Given the description of an element on the screen output the (x, y) to click on. 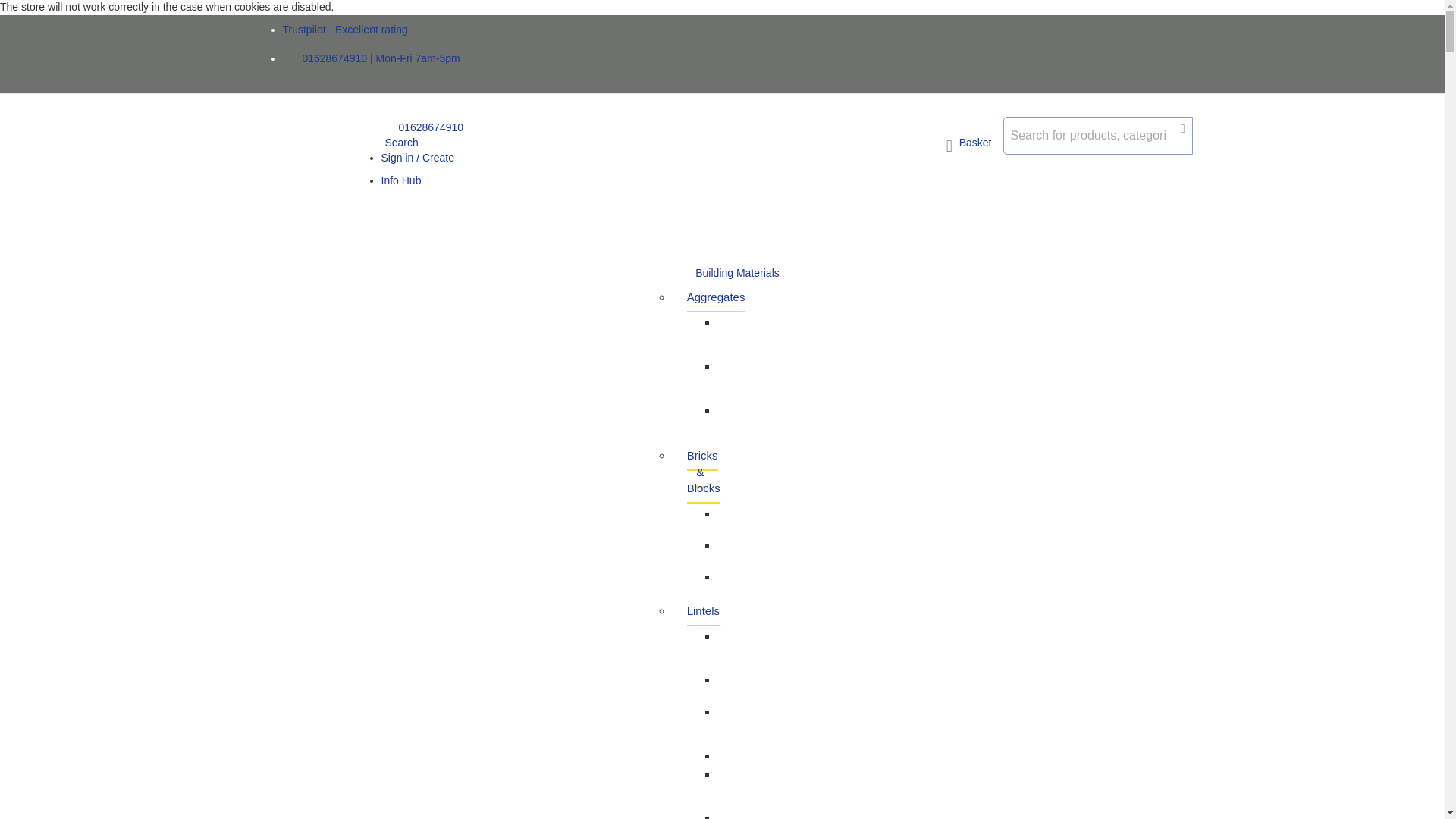
Aggregates (716, 297)
Concrete Blocks (739, 519)
Basket (968, 146)
Building Materials (737, 273)
Building Materials Nationwide (315, 174)
Trustpilot - Excellent rating (344, 29)
Info Hub (400, 180)
Engineering Brick (747, 550)
Archformers (747, 755)
Search (398, 142)
